Given the description of an element on the screen output the (x, y) to click on. 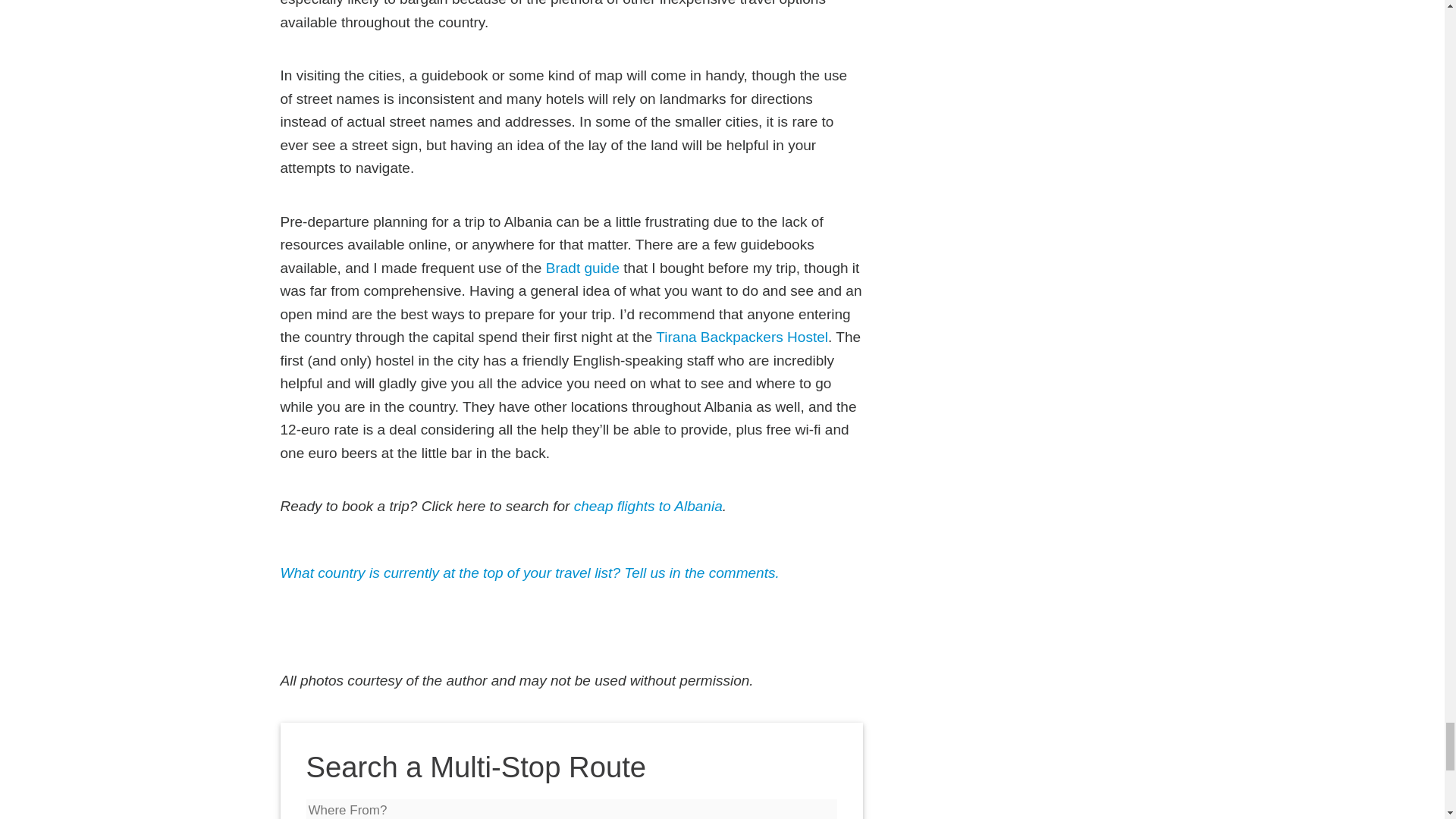
Bradt guide (583, 268)
cheap flights to Albania (647, 505)
Tirana Backpackers Hostel (742, 336)
